Given the description of an element on the screen output the (x, y) to click on. 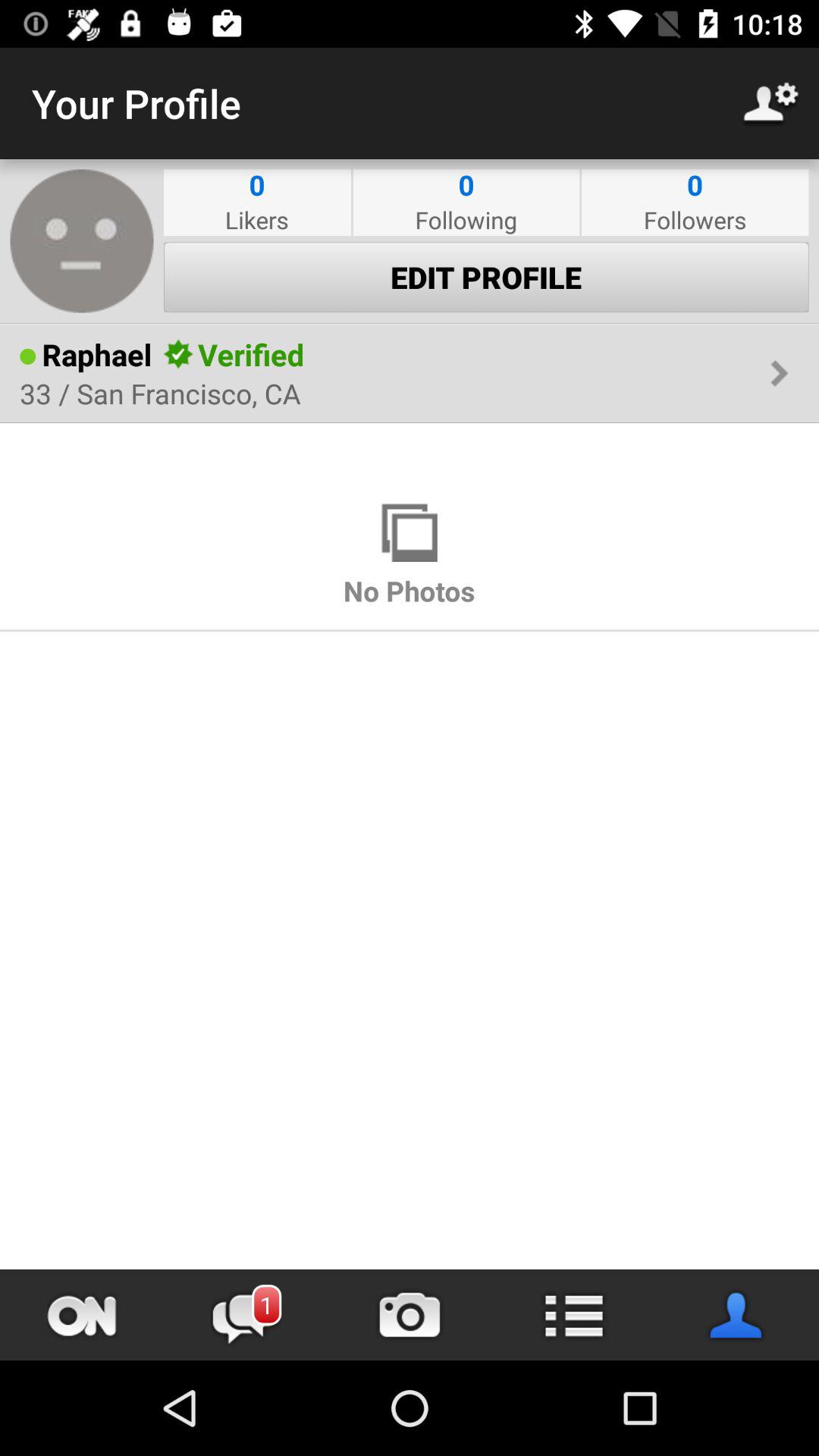
go to camera (409, 1315)
